Given the description of an element on the screen output the (x, y) to click on. 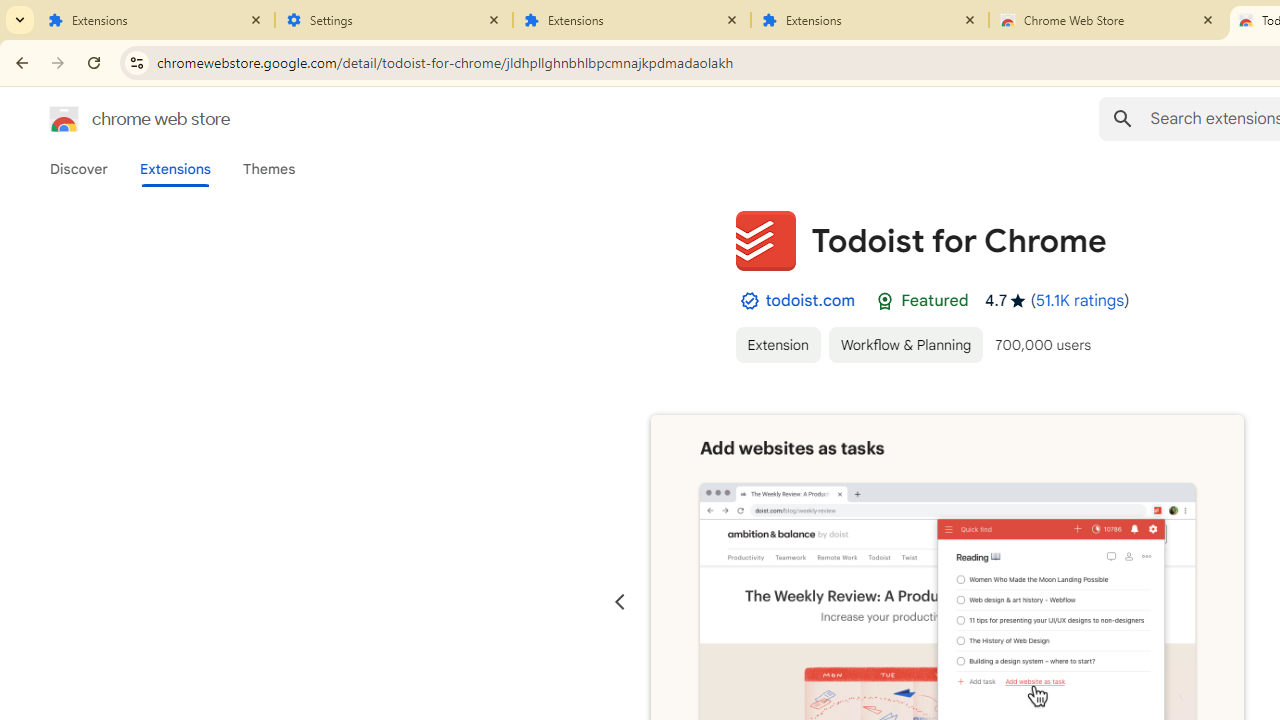
Chrome Web Store logo chrome web store (118, 118)
todoist.com (810, 300)
Extensions (632, 20)
Workflow & Planning (906, 344)
51.1K ratings (1080, 300)
Chrome Web Store logo (63, 118)
Extensions (870, 20)
